Given the description of an element on the screen output the (x, y) to click on. 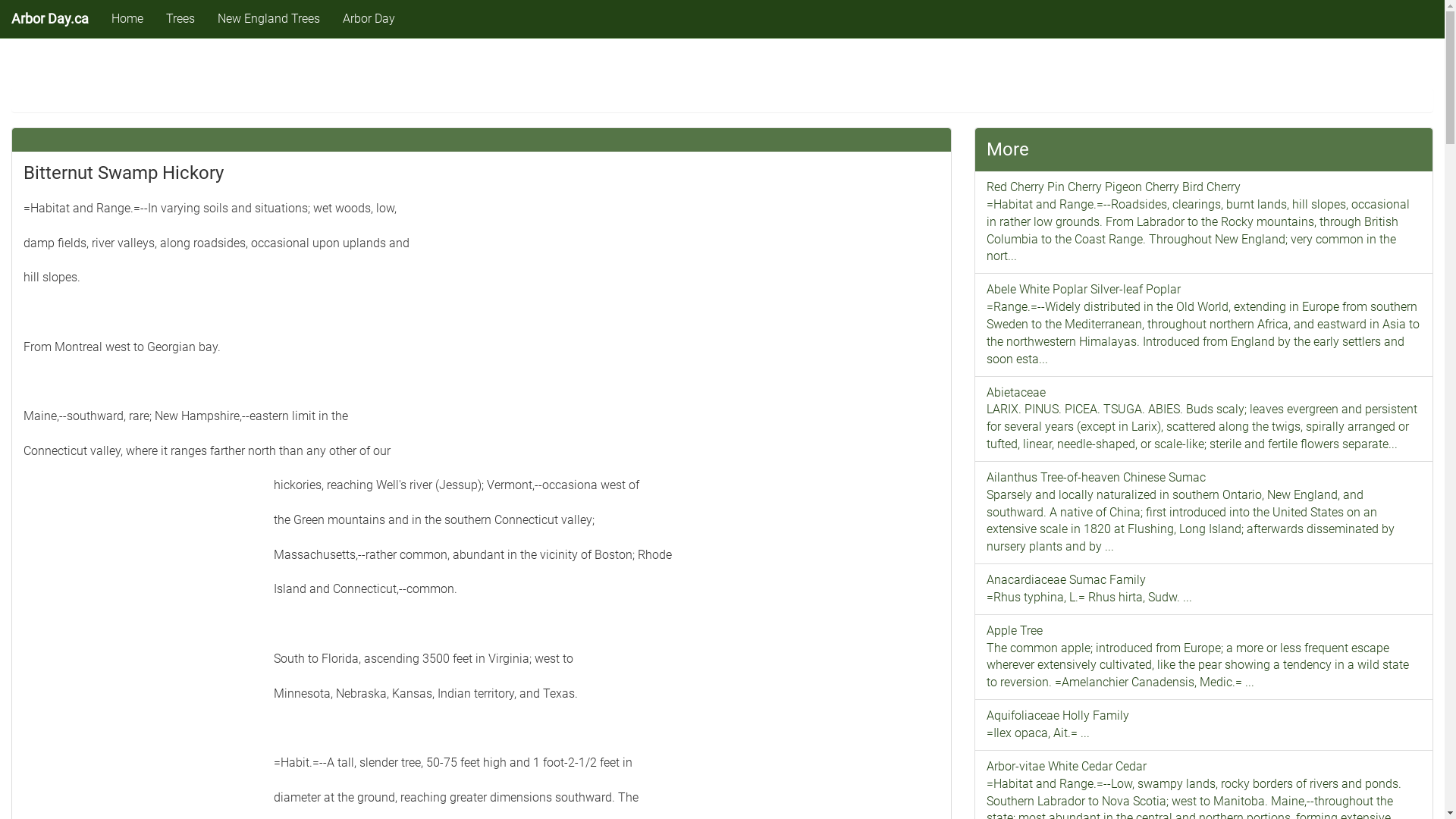
Arbor Day Element type: text (368, 18)
Home Element type: text (127, 18)
Aquifoliaceae Holly Family
=Ilex opaca, Ait.= ... Element type: text (1203, 724)
Arbor Day.ca Element type: text (50, 18)
Trees Element type: text (180, 18)
New England Trees Element type: text (268, 18)
